Given the description of an element on the screen output the (x, y) to click on. 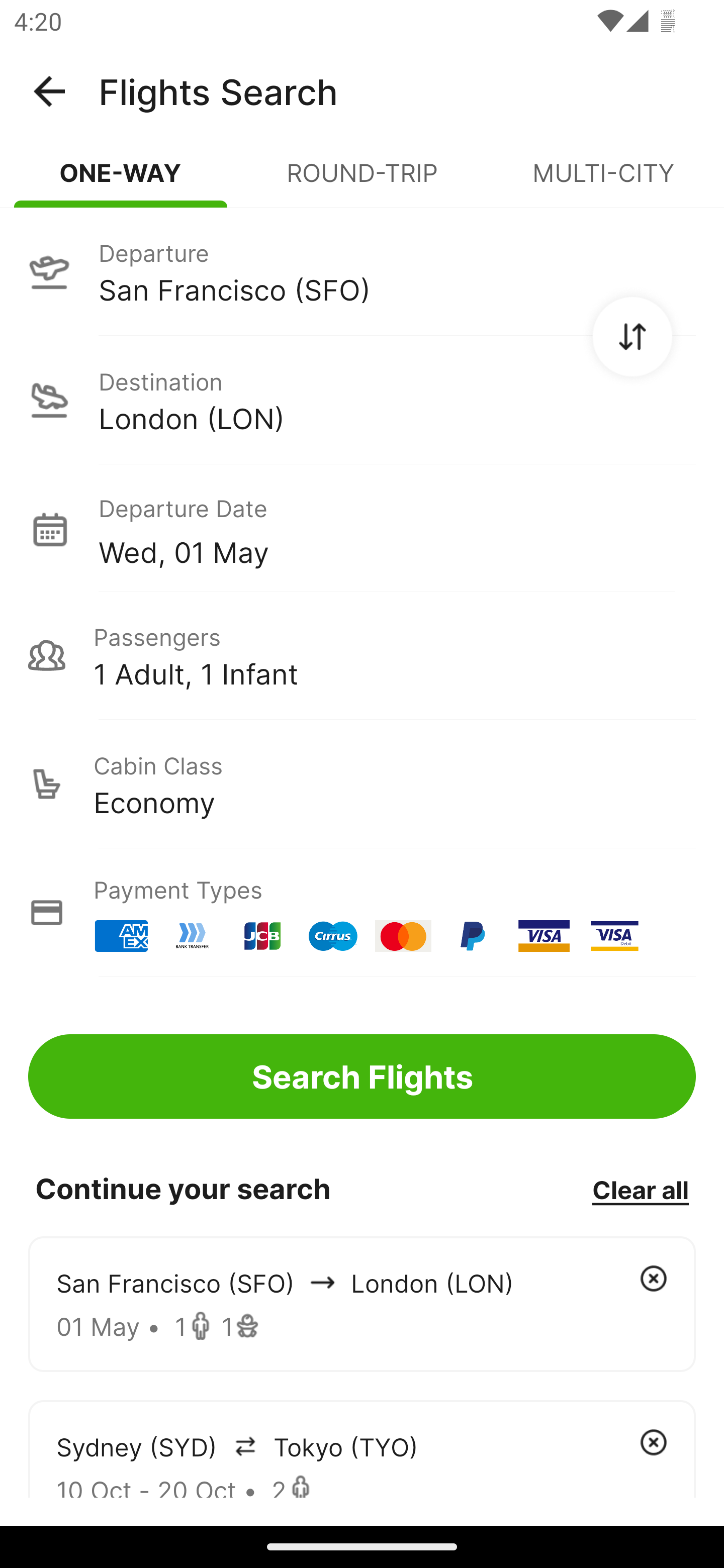
ONE-WAY (120, 180)
ROUND-TRIP (361, 180)
MULTI-CITY (603, 180)
Departure San Francisco (SFO) (362, 270)
Destination London (LON) (362, 400)
Departure Date Wed, 01 May (396, 528)
Passengers 1 Adult, 1 Infant (362, 655)
Cabin Class Economy (362, 783)
Payment Types (362, 912)
Search Flights (361, 1075)
Clear all (640, 1189)
